Given the description of an element on the screen output the (x, y) to click on. 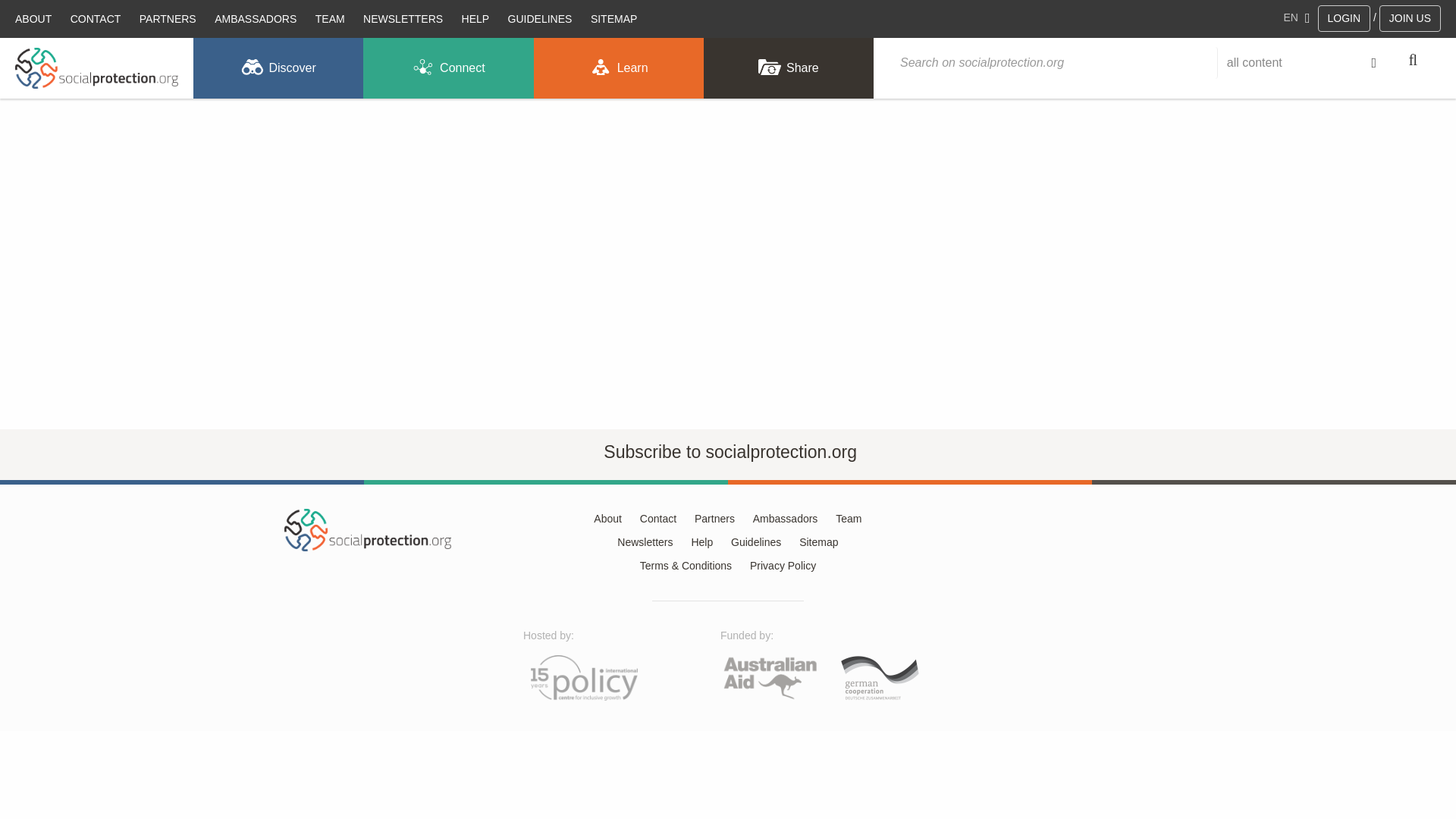
SITEMAP (614, 18)
PARTNERS (167, 18)
HELP (475, 18)
AMBASSADORS (255, 18)
JOIN US (1409, 17)
Discover (277, 67)
CONTACT (95, 18)
GUIDELINES (539, 18)
ABOUT (33, 18)
LOGIN (1344, 17)
NEWSLETTERS (402, 18)
Share (788, 67)
Connect (447, 67)
Home (95, 68)
TEAM (329, 18)
